Given the description of an element on the screen output the (x, y) to click on. 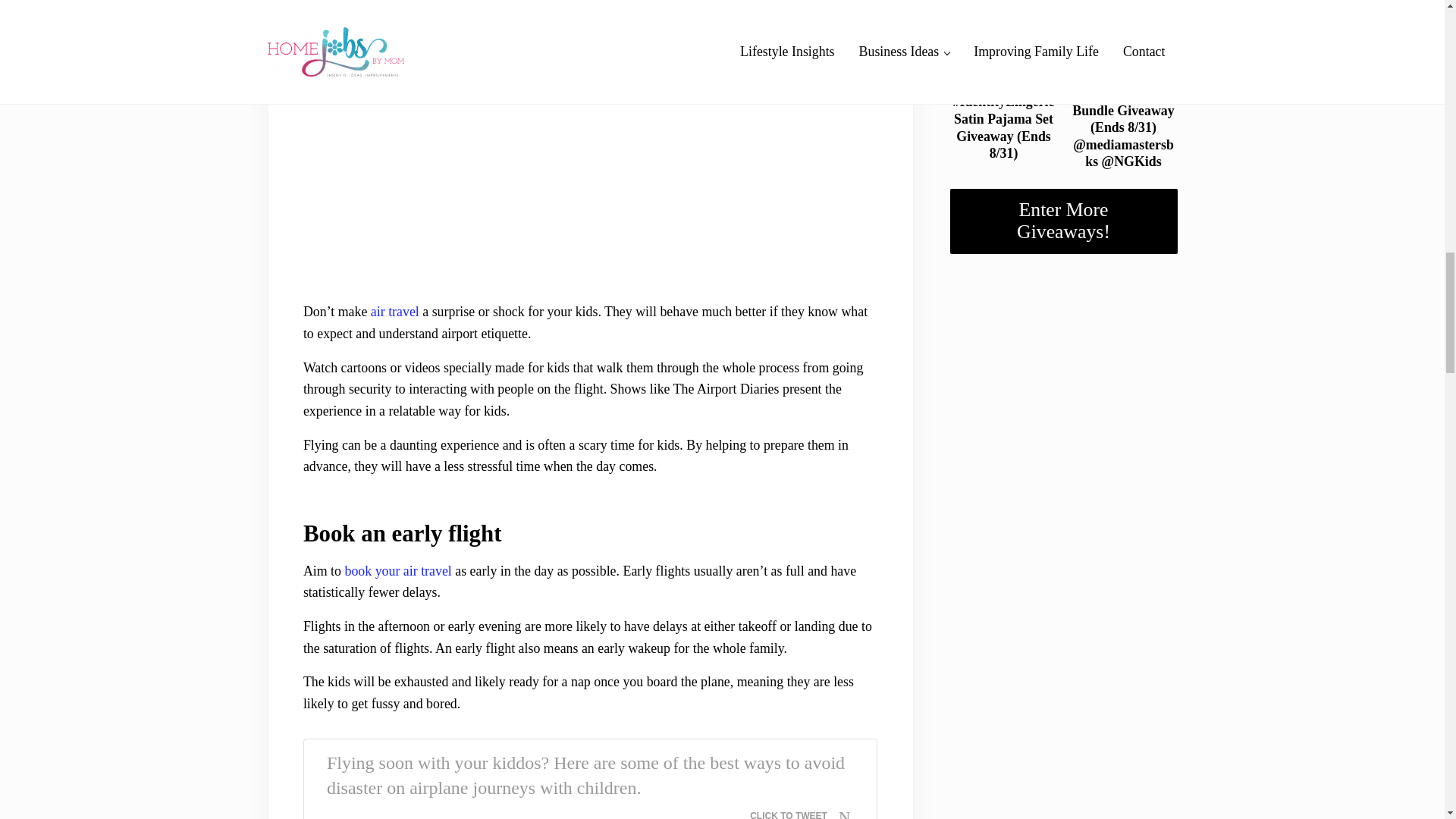
book your air travel (397, 570)
air travel (395, 311)
